Given the description of an element on the screen output the (x, y) to click on. 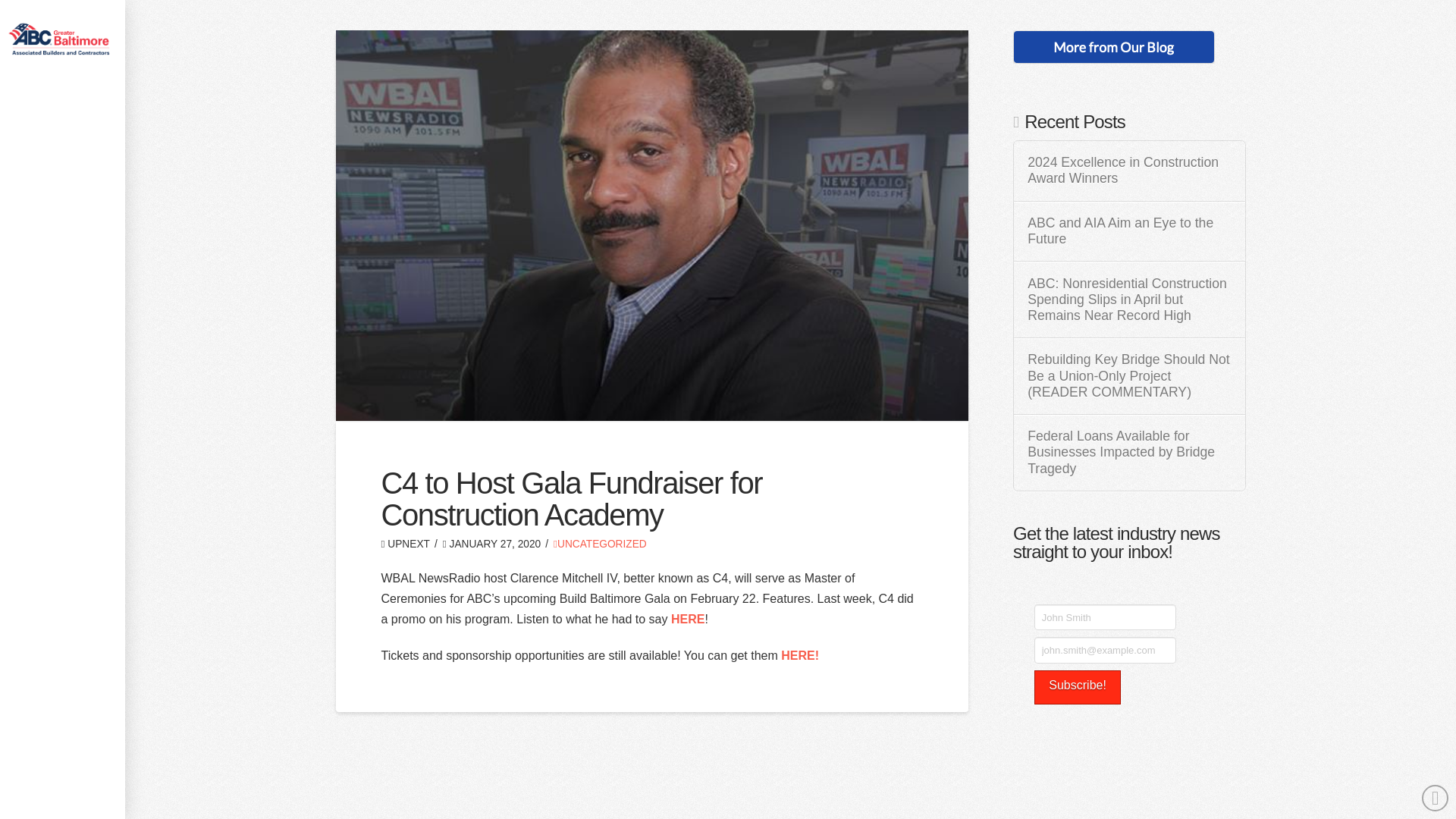
Subscribe! (1077, 687)
ABC and AIA Aim an Eye to the Future (1128, 231)
HERE (687, 618)
UNCATEGORIZED (599, 543)
Back to Top (1435, 797)
2024 Excellence in Construction Award Winners (1128, 170)
HERE! (799, 655)
Subscribe! (1077, 687)
